Given the description of an element on the screen output the (x, y) to click on. 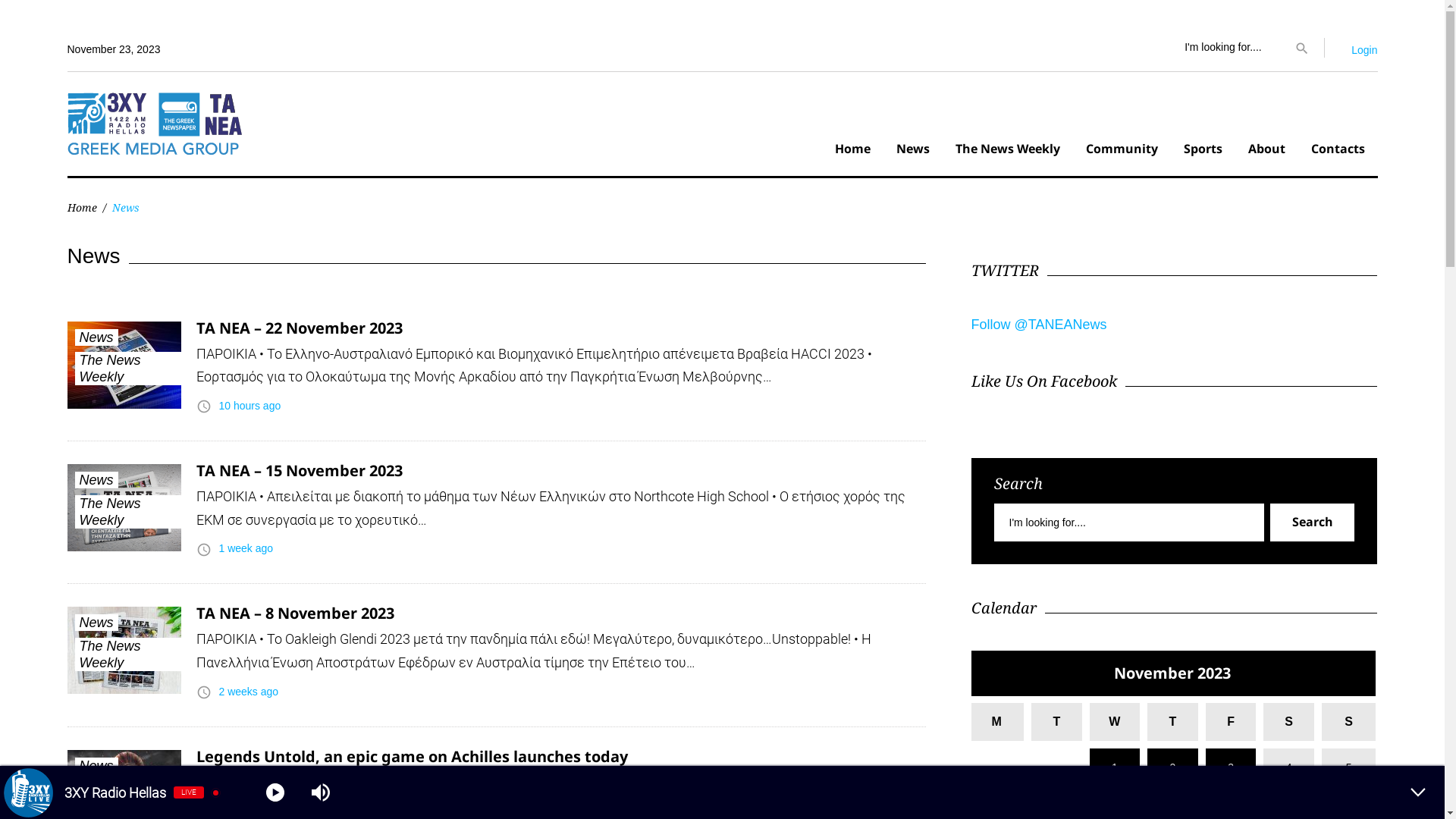
Legends Untold, an epic game on Achilles launches today Element type: text (411, 756)
News Element type: text (95, 337)
2 weeks ago Element type: text (248, 691)
Home Element type: text (81, 207)
News Element type: text (911, 150)
News Element type: text (95, 622)
The News Weekly Element type: text (129, 511)
2 Element type: text (1172, 767)
Minimize Player Element type: hover (1417, 792)
Follow @TANEANews Element type: text (1038, 324)
search Element type: text (1301, 46)
About Element type: text (1265, 150)
Play Element type: hover (274, 792)
The News Weekly Element type: text (1006, 150)
Sports Element type: text (1202, 150)
News Element type: text (95, 765)
Home Element type: text (852, 150)
Contacts Element type: text (1337, 150)
1 Element type: text (1114, 767)
3 Element type: text (1230, 767)
Search Element type: text (1312, 522)
The News Weekly Element type: text (129, 796)
10 hours ago Element type: text (249, 405)
1 week ago Element type: text (245, 548)
Search for: Element type: hover (1128, 522)
Login Element type: text (1364, 49)
News Element type: text (95, 479)
The News Weekly Element type: text (129, 654)
Search for: Element type: hover (1229, 47)
The News Weekly Element type: text (129, 368)
Community Element type: text (1121, 150)
